Given the description of an element on the screen output the (x, y) to click on. 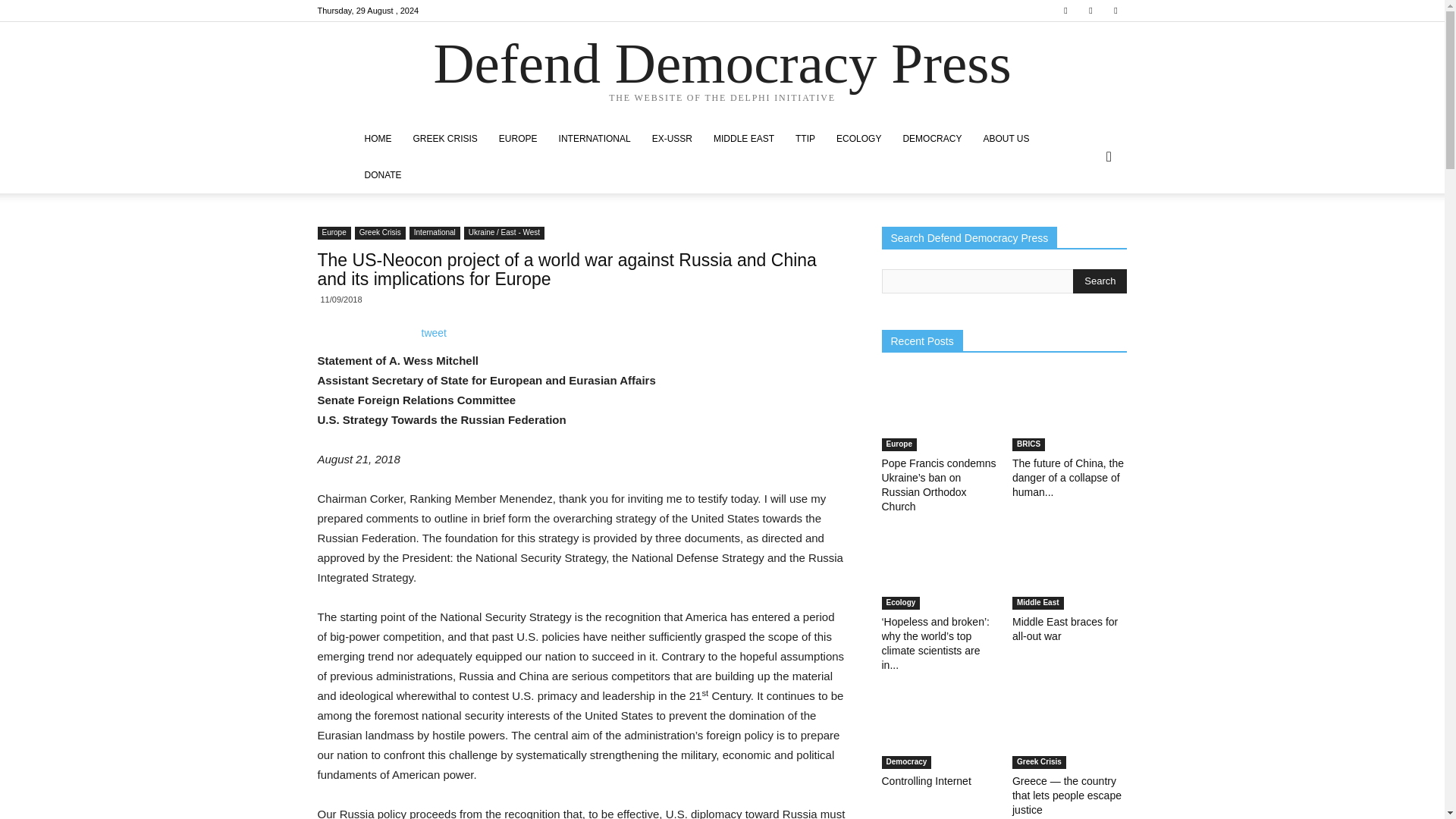
HOME (377, 138)
Defend Democracy Press THE WEBSITE OF THE DELPHI INITIATIVE (721, 72)
GREEK CRISIS (444, 138)
Facebook (1065, 10)
EUROPE (517, 138)
Twitter (1090, 10)
INTERNATIONAL (595, 138)
EX-USSR (672, 138)
Youtube (1114, 10)
Search (1099, 281)
